Given the description of an element on the screen output the (x, y) to click on. 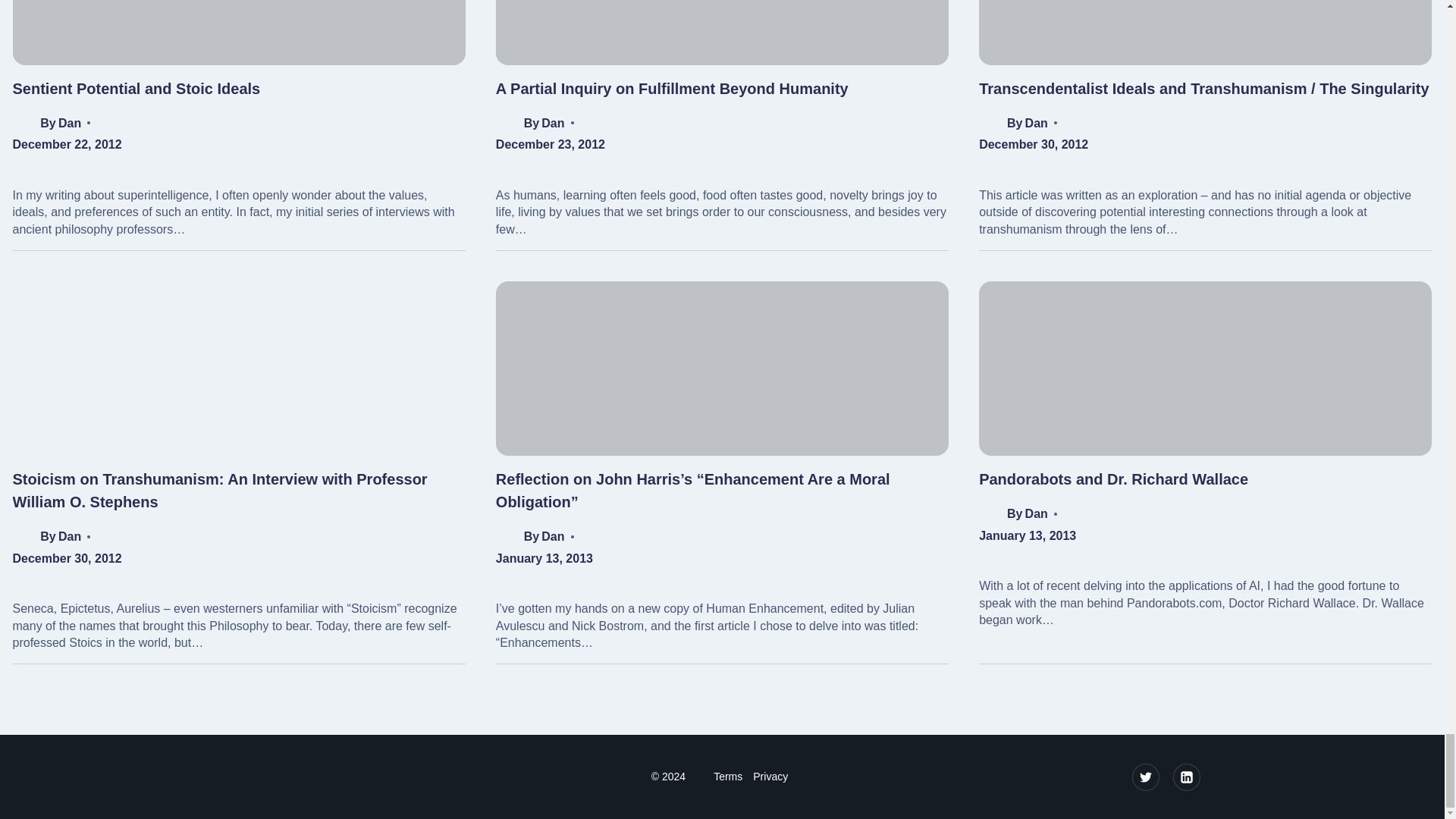
Sentient Potential and Stoic Ideals (135, 88)
A Partial Inquiry on Fulfillment Beyond Humanity (672, 88)
